Given the description of an element on the screen output the (x, y) to click on. 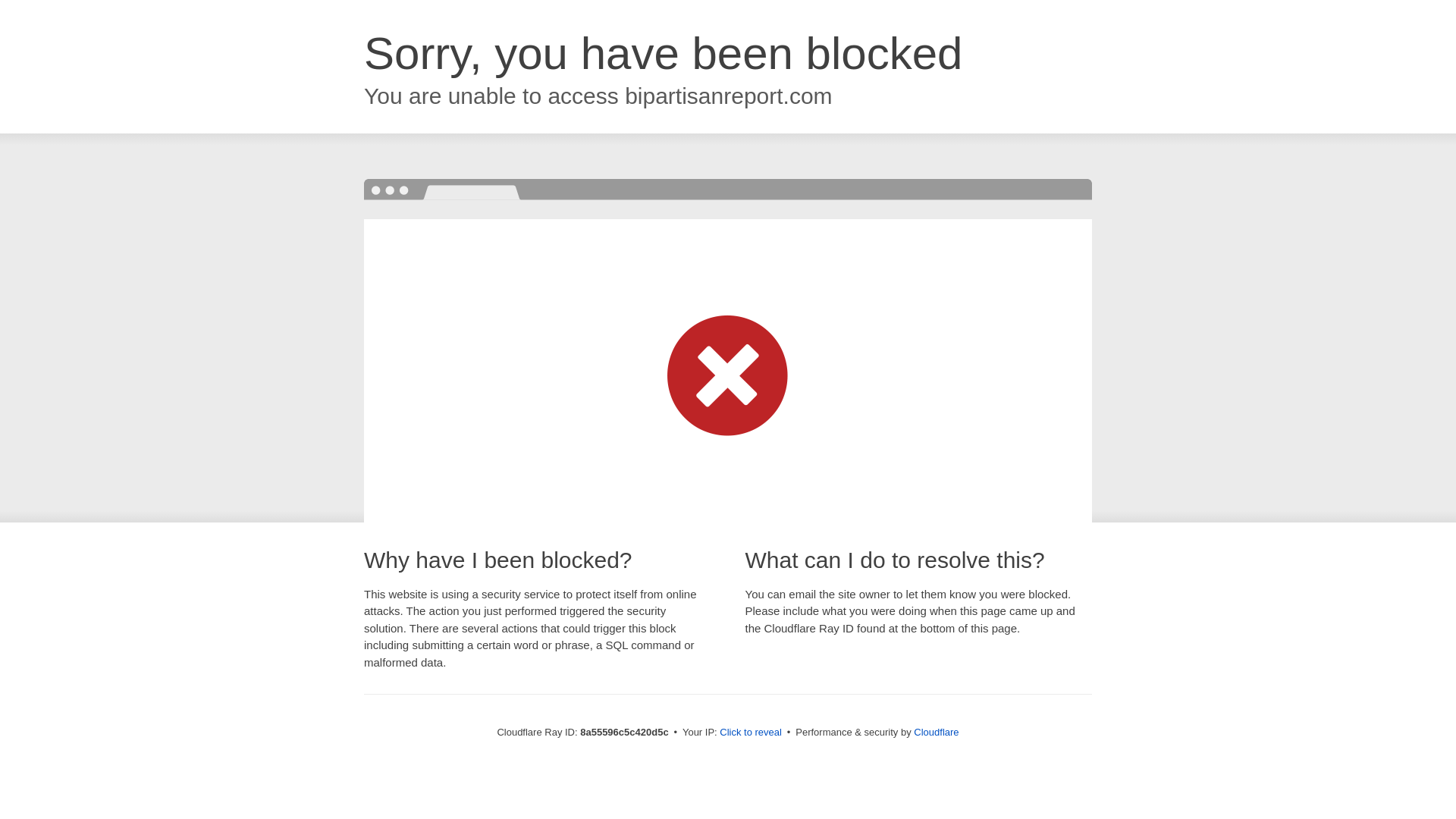
Cloudflare (936, 731)
Click to reveal (750, 732)
